Given the description of an element on the screen output the (x, y) to click on. 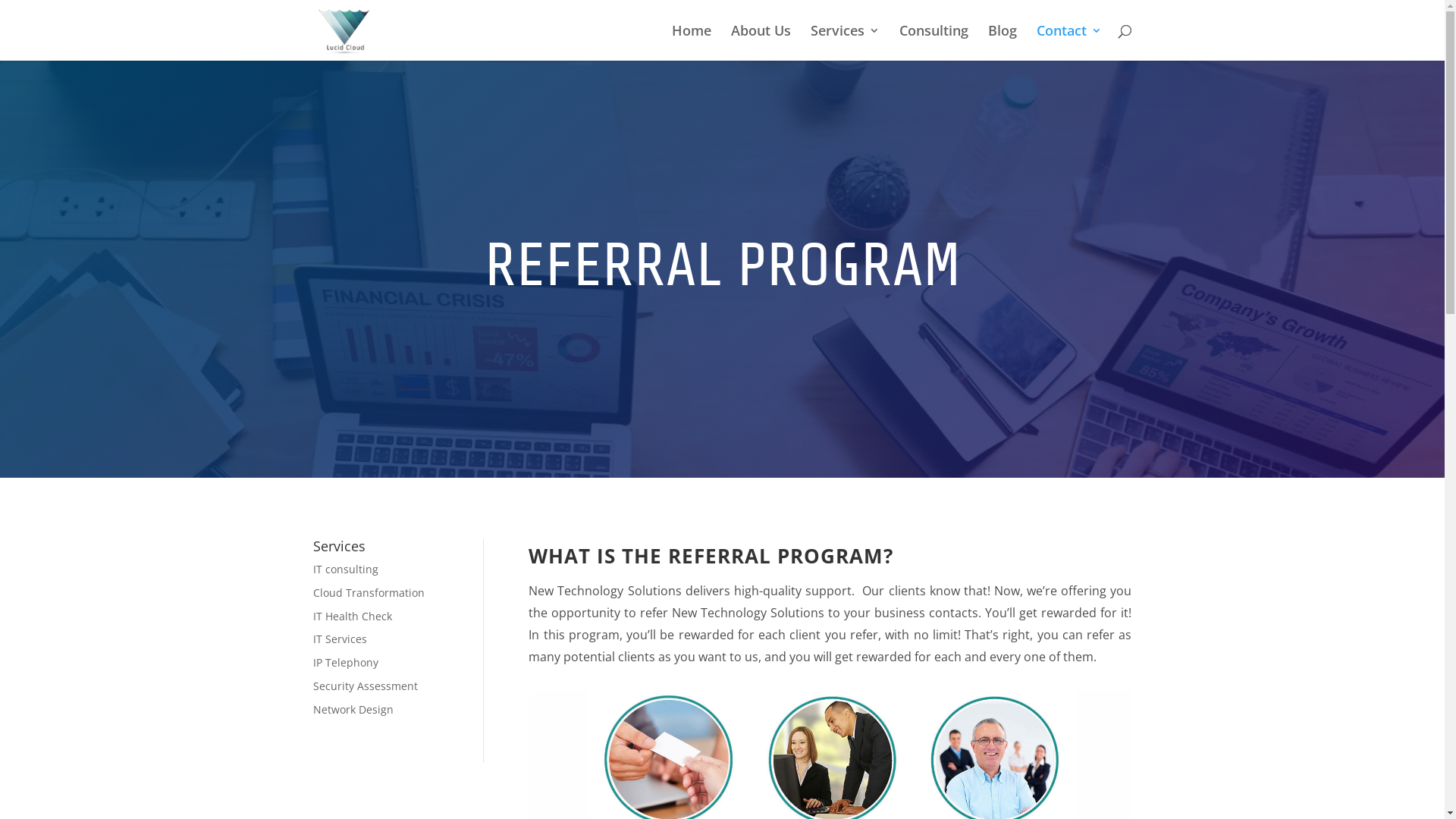
Blog Element type: text (1001, 42)
Cloud Transformation Element type: text (367, 592)
Home Element type: text (691, 42)
IT consulting Element type: text (344, 568)
IT Health Check Element type: text (351, 615)
Network Design Element type: text (352, 709)
Consulting Element type: text (933, 42)
IP Telephony Element type: text (344, 662)
Security Assessment Element type: text (364, 685)
IT Services Element type: text (339, 638)
About Us Element type: text (760, 42)
Contact Element type: text (1068, 42)
Services Element type: text (843, 42)
